Given the description of an element on the screen output the (x, y) to click on. 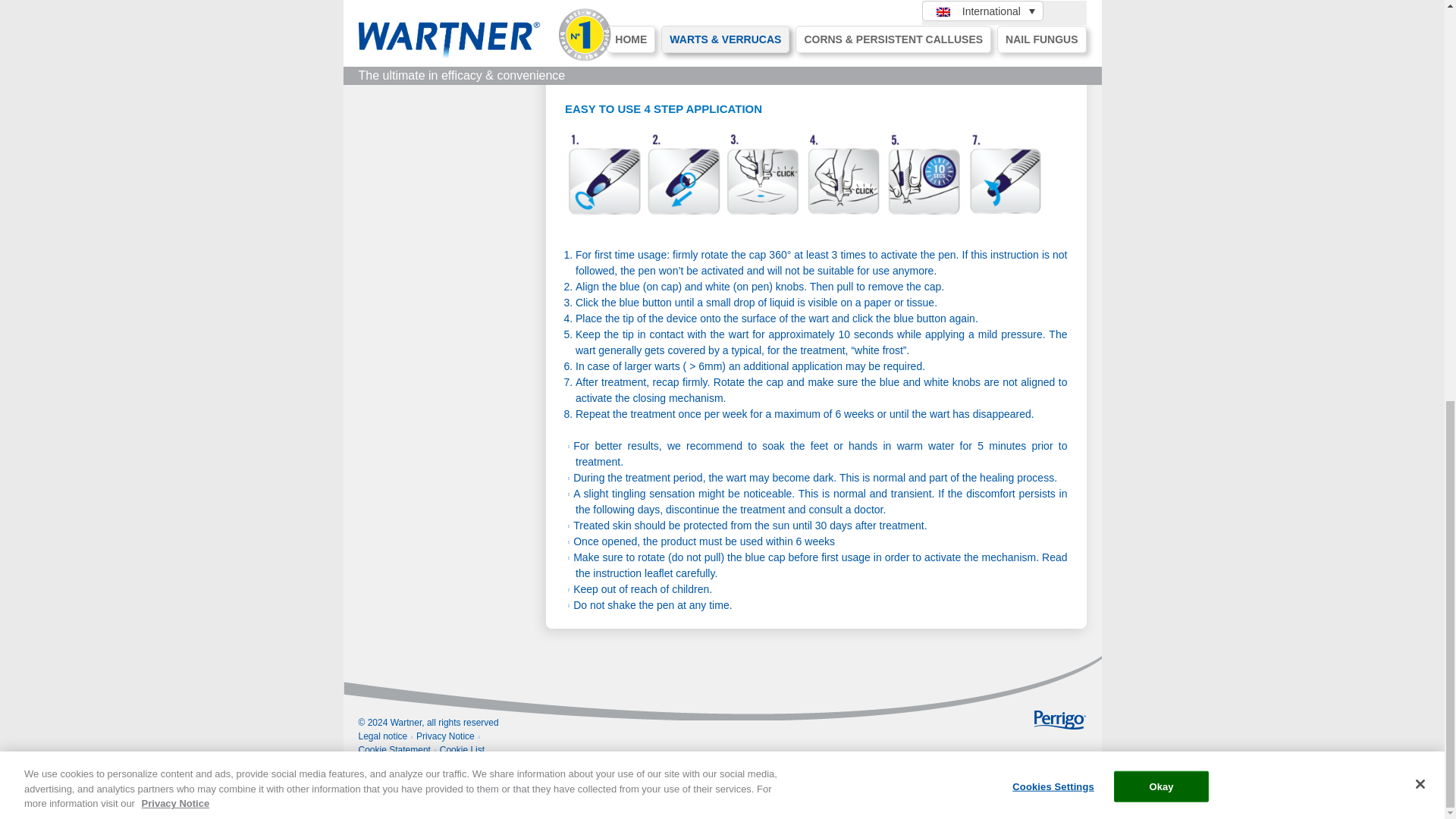
Cookie List (461, 749)
Legal notice (382, 736)
Privacy Notice (445, 736)
Cookie Statement (393, 749)
